Given the description of an element on the screen output the (x, y) to click on. 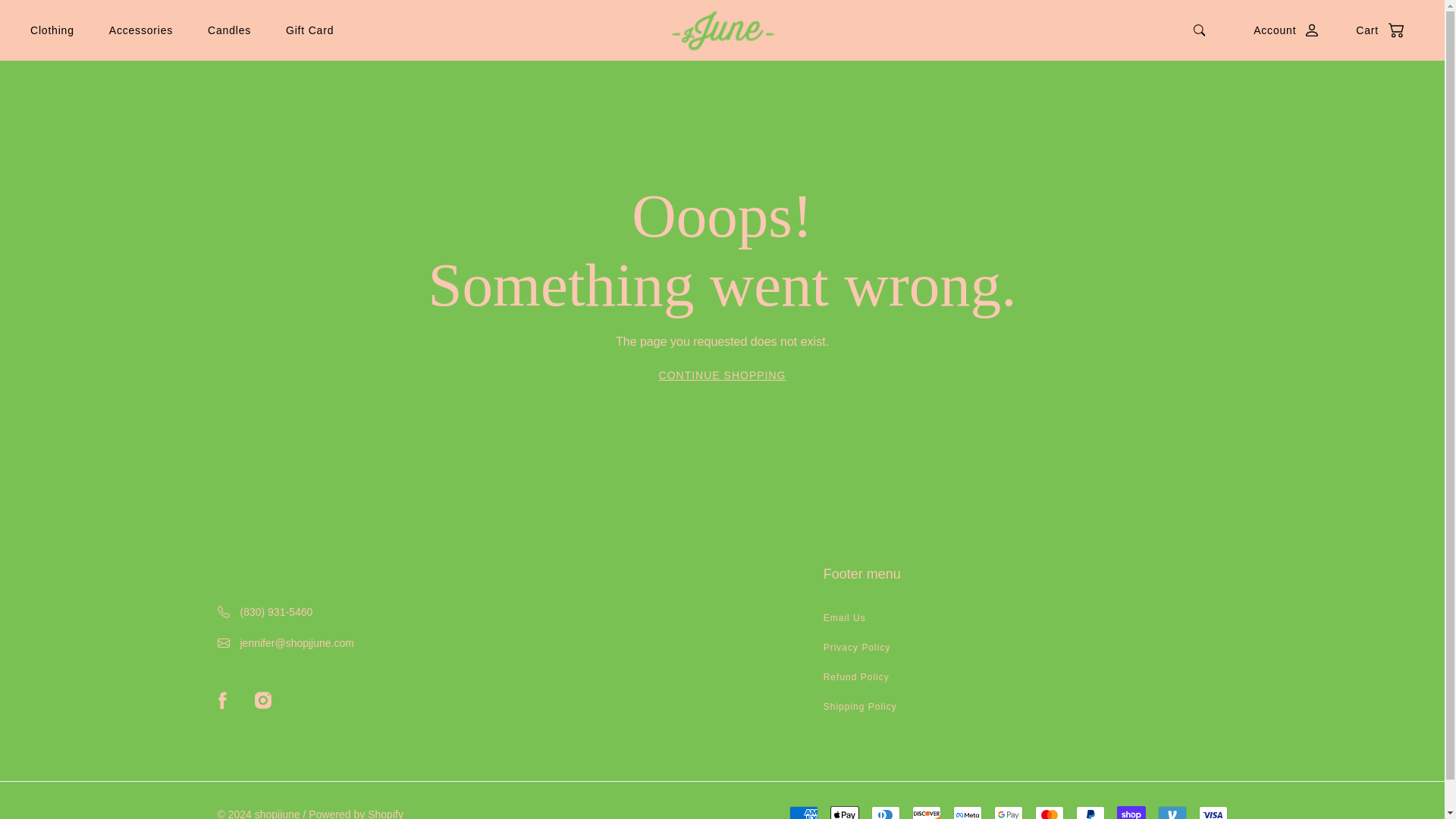
Cart (1372, 30)
Sign in (1279, 30)
SKIP TO CONTENT (66, 24)
Accessories (141, 30)
